Given the description of an element on the screen output the (x, y) to click on. 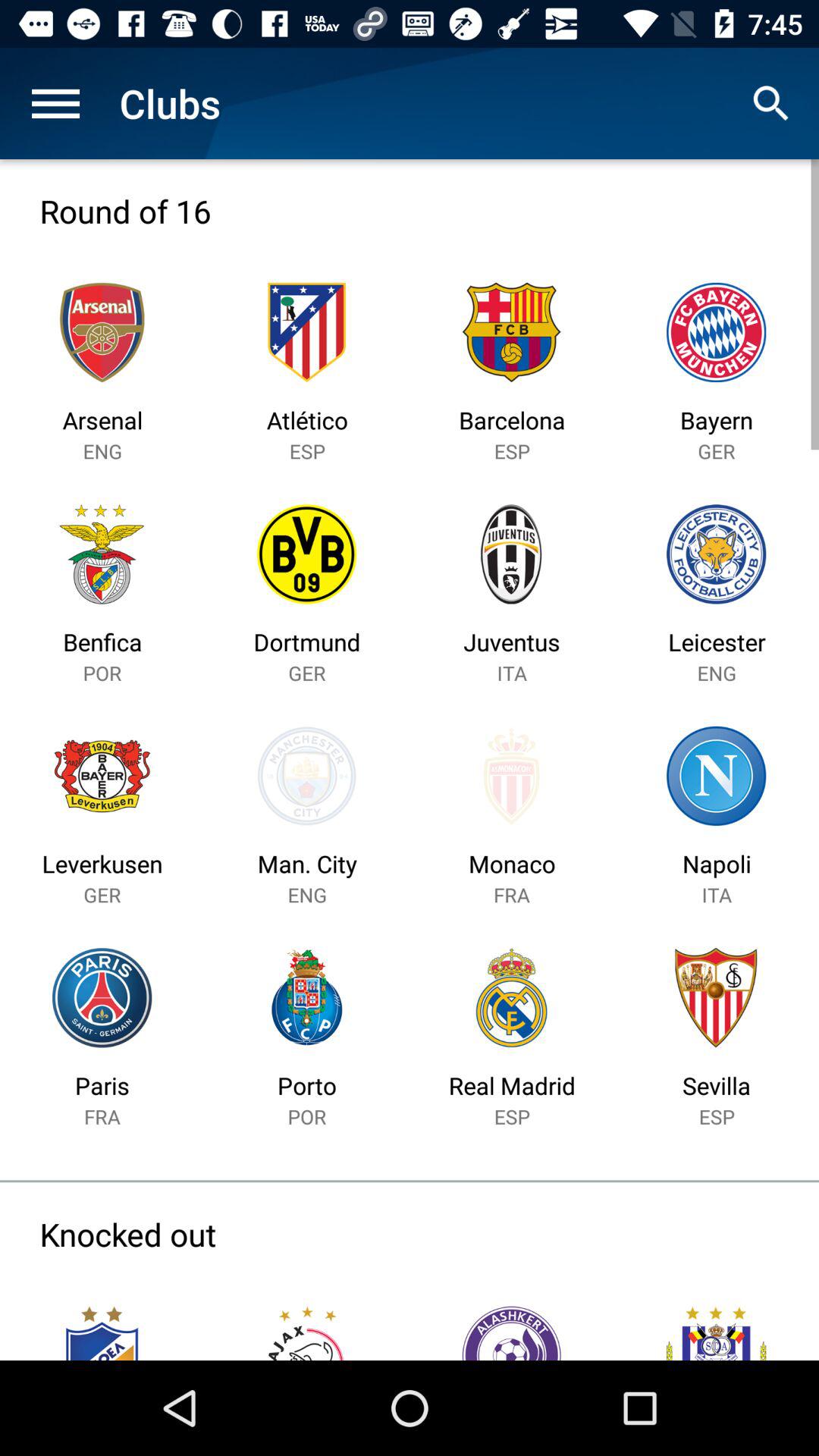
drop down menu (55, 103)
